Given the description of an element on the screen output the (x, y) to click on. 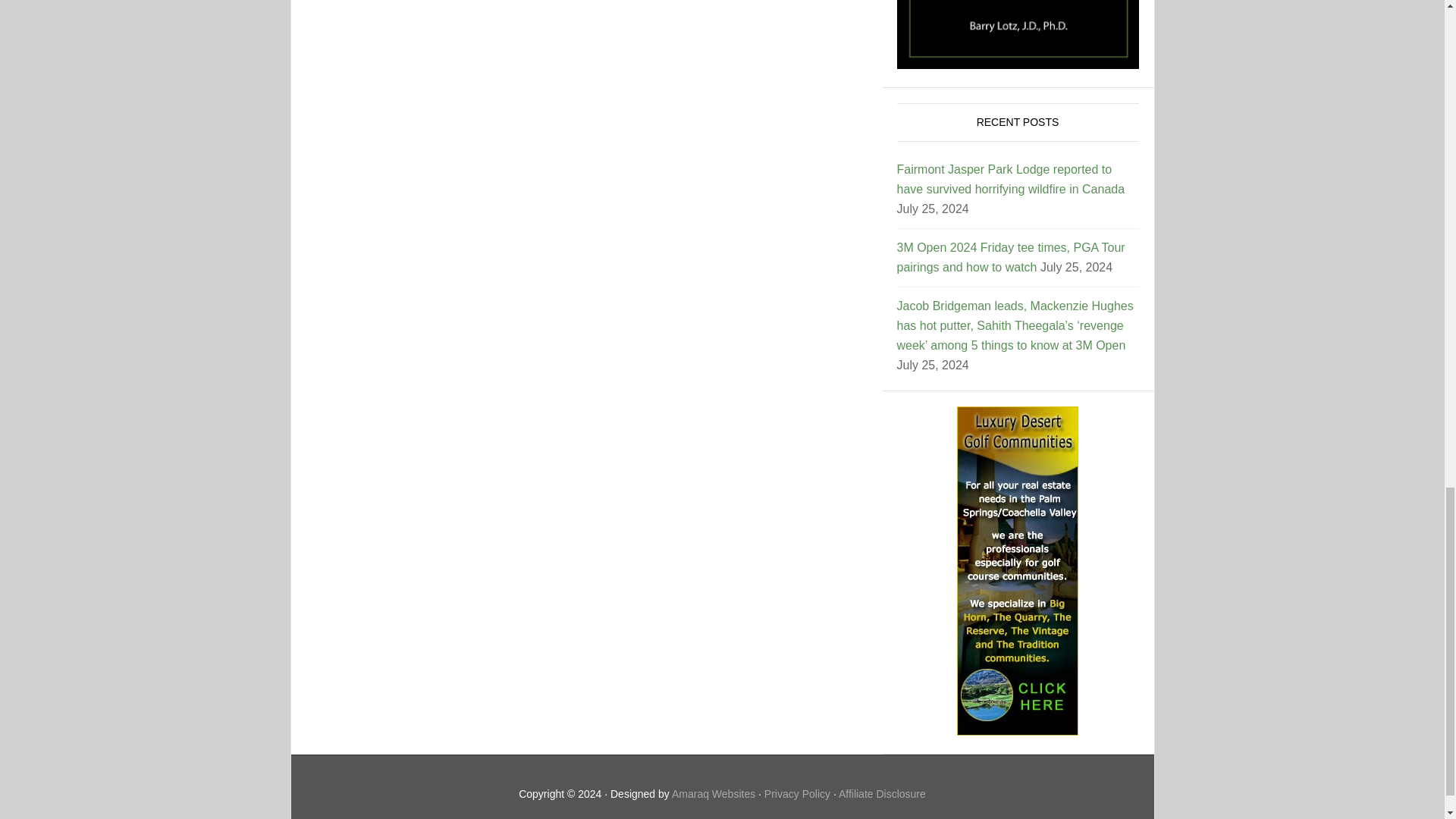
Privacy Policy (796, 793)
The Right Mind For Golf Book (1017, 34)
Amaraq Websites (713, 793)
Affiliate Disclosure (882, 793)
Affiliate Disclosure (882, 793)
Privacy Policy (796, 793)
Amaraq Websites (713, 793)
